Given the description of an element on the screen output the (x, y) to click on. 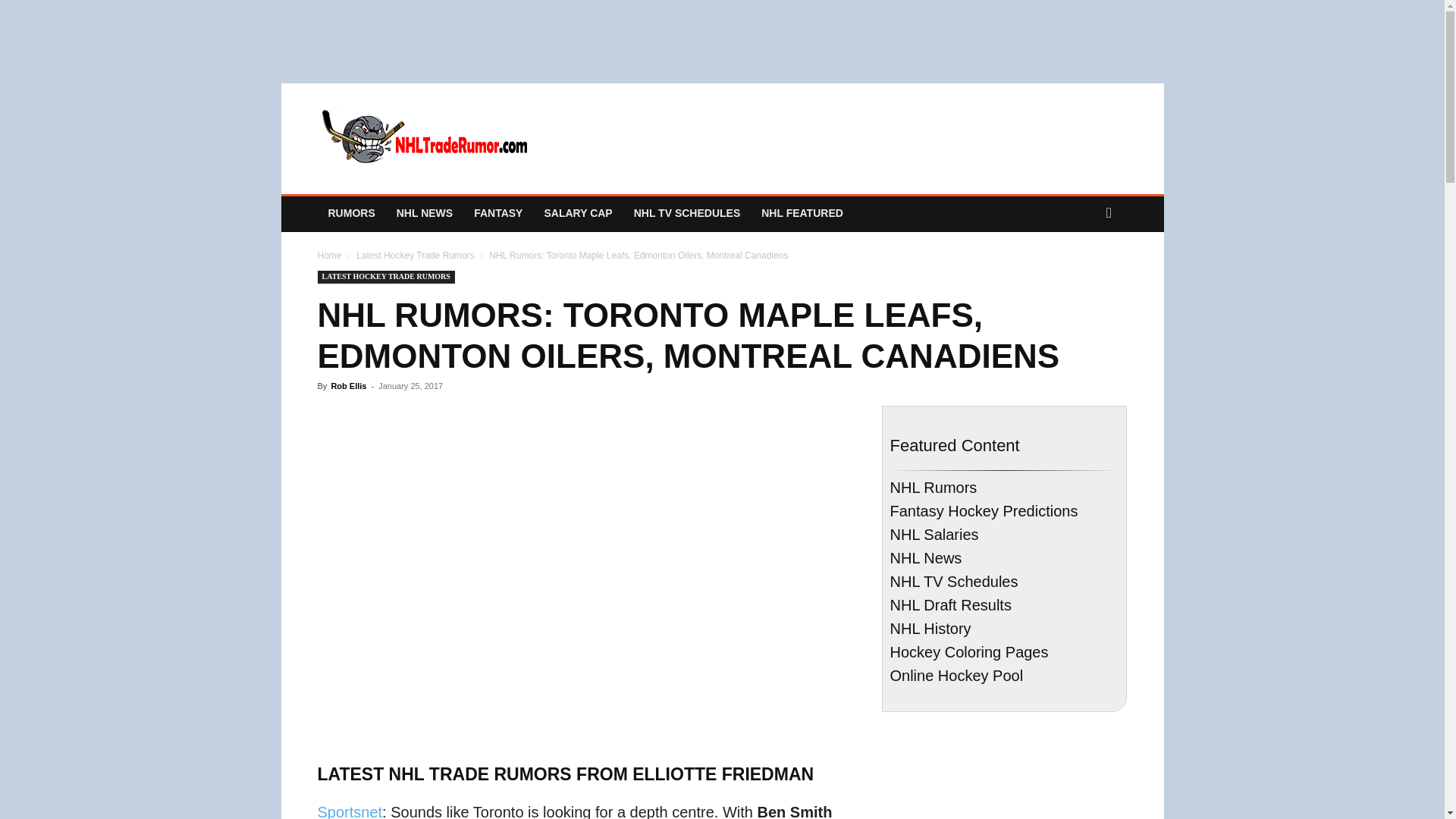
Latest NHL news and rumors (351, 212)
NHL Salary Cap (577, 212)
FANTASY (497, 212)
Fantasy Hockey Predictions (497, 212)
RUMORS (351, 212)
NHL NEWS (424, 212)
